Given the description of an element on the screen output the (x, y) to click on. 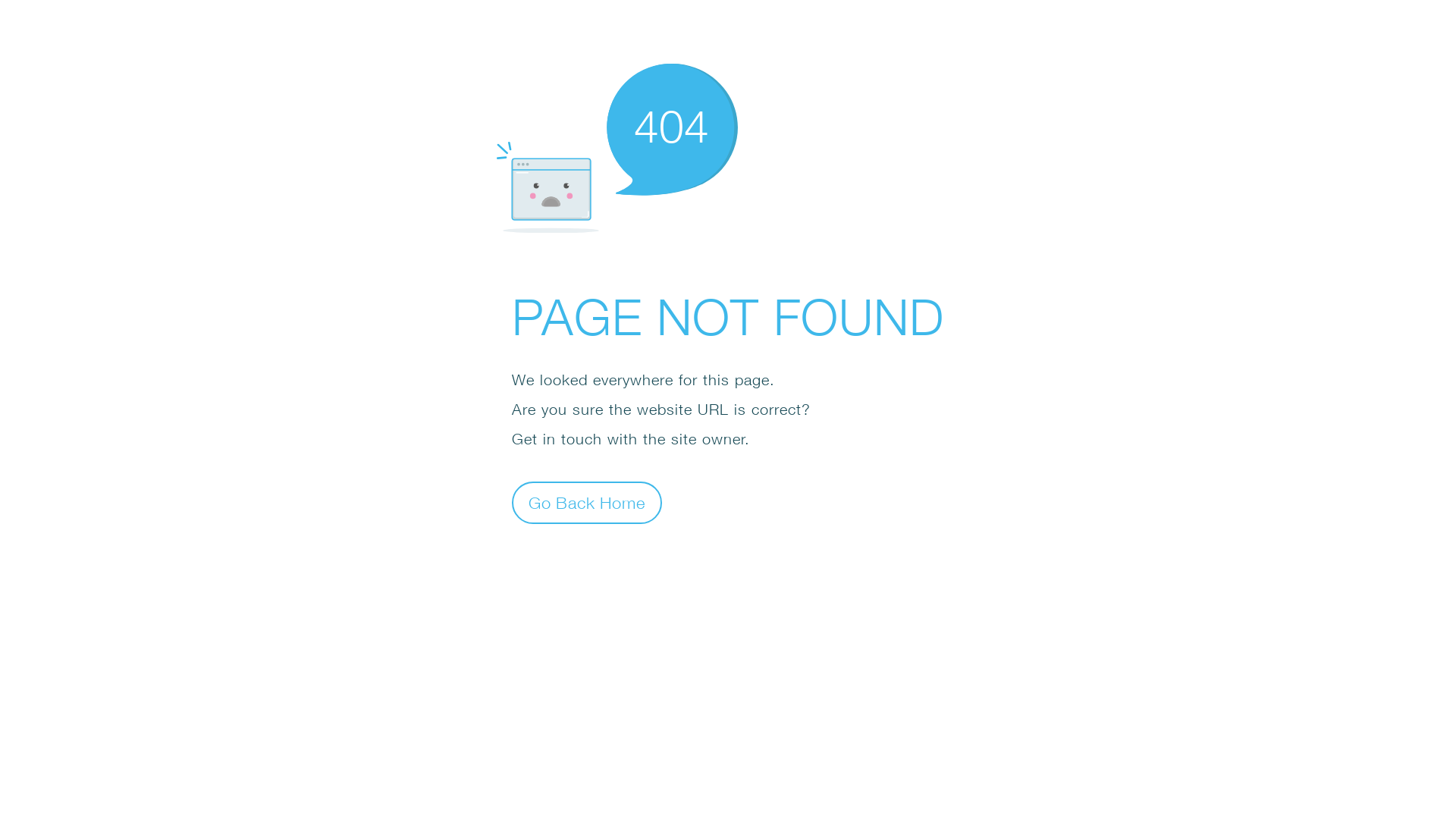
Go Back Home Element type: text (586, 502)
